Given the description of an element on the screen output the (x, y) to click on. 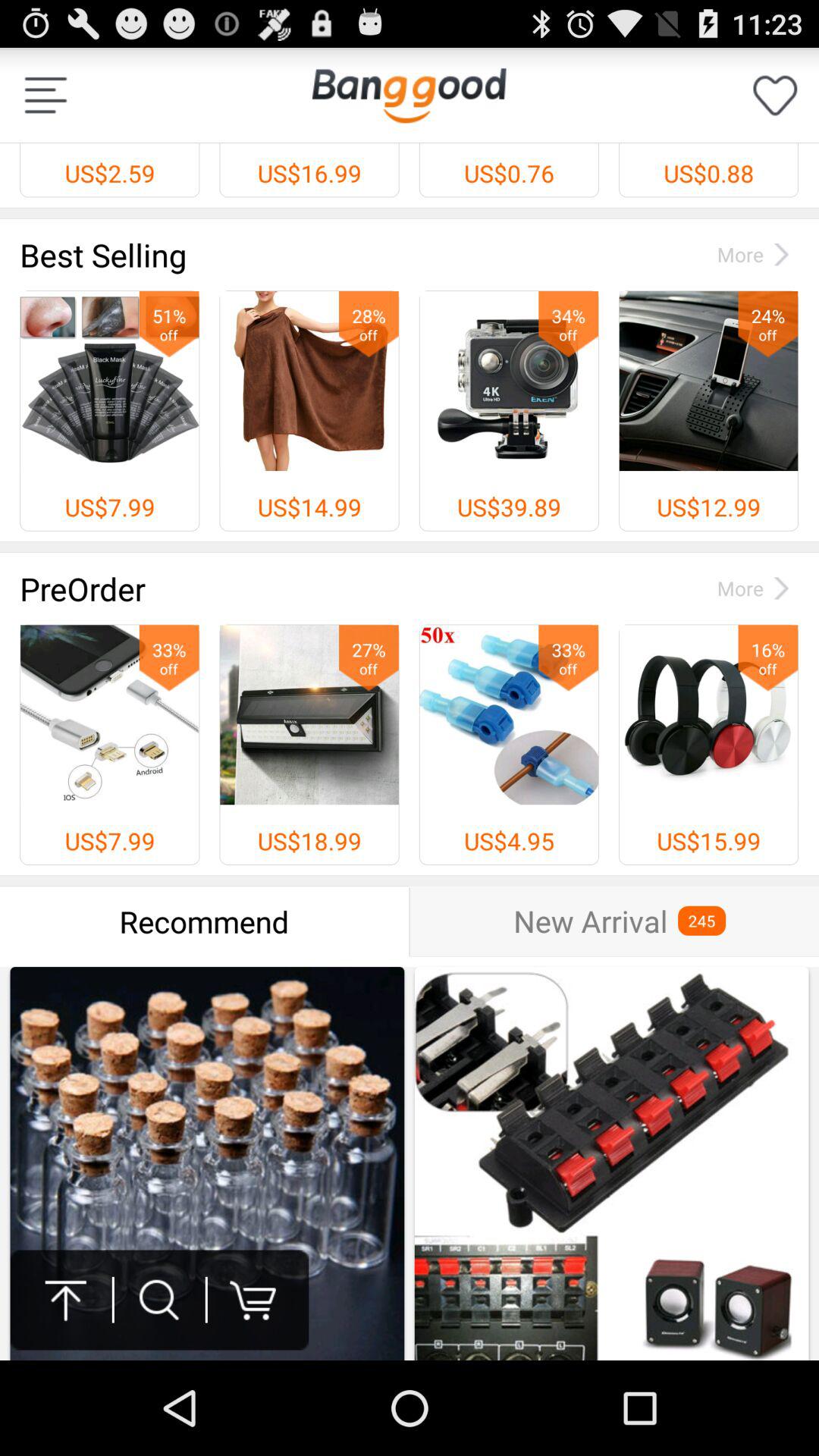
banggood home page (409, 95)
